Given the description of an element on the screen output the (x, y) to click on. 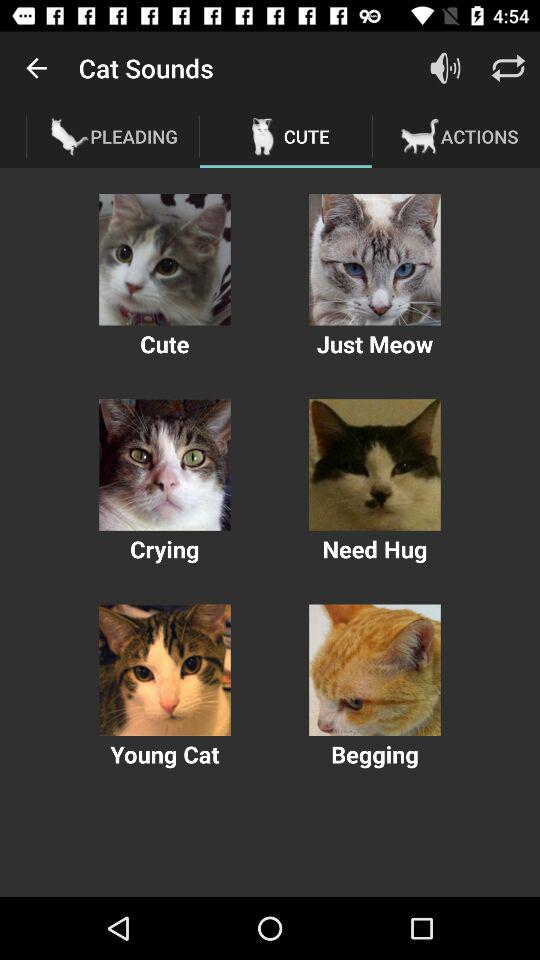
volume (445, 67)
